Given the description of an element on the screen output the (x, y) to click on. 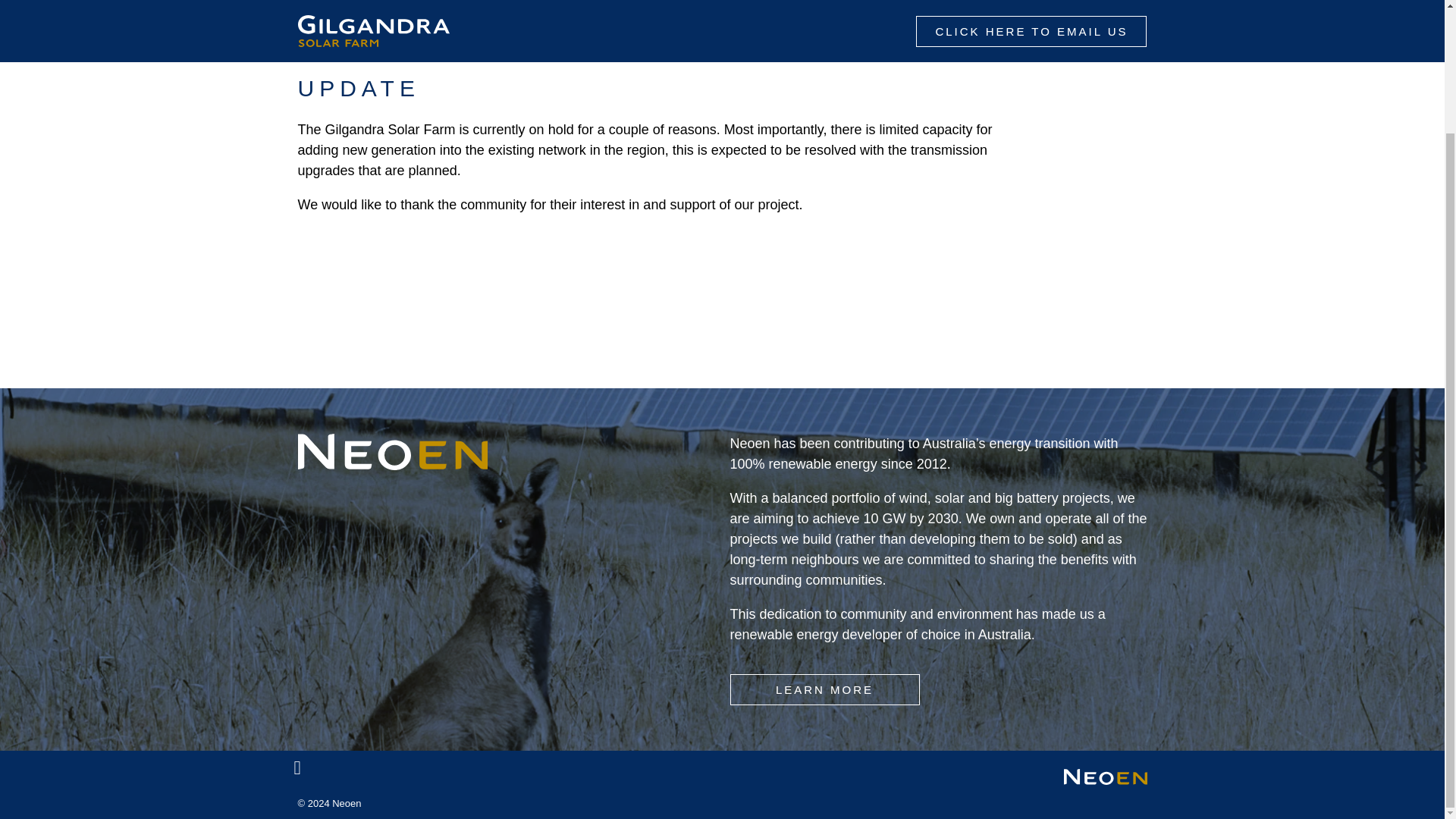
LEARN MORE (823, 689)
